Given the description of an element on the screen output the (x, y) to click on. 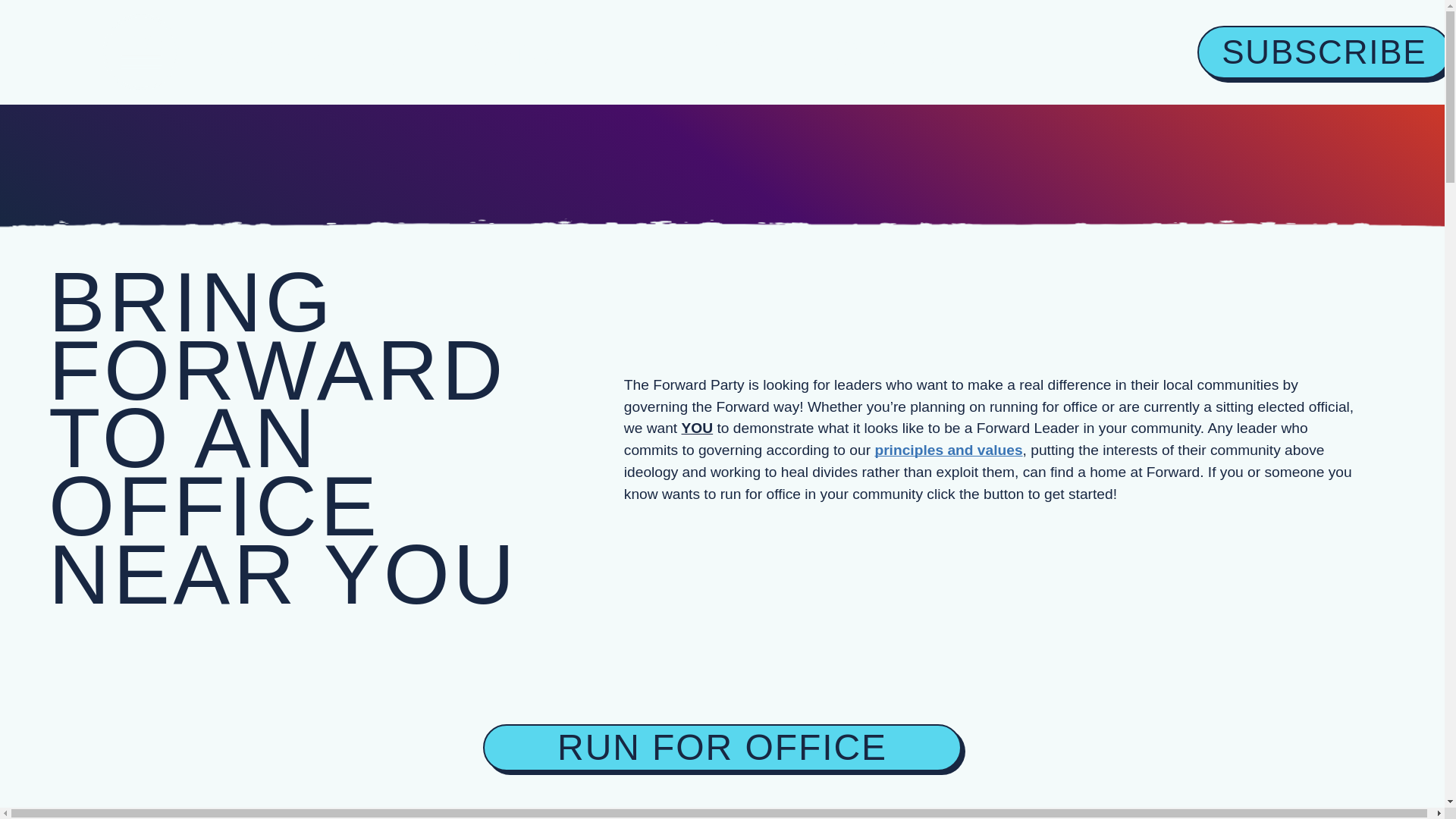
ABOUT US (311, 52)
DONATE (891, 52)
principles and values (535, 52)
SHOP (948, 449)
RUN FOR OFFICE (714, 52)
